Given the description of an element on the screen output the (x, y) to click on. 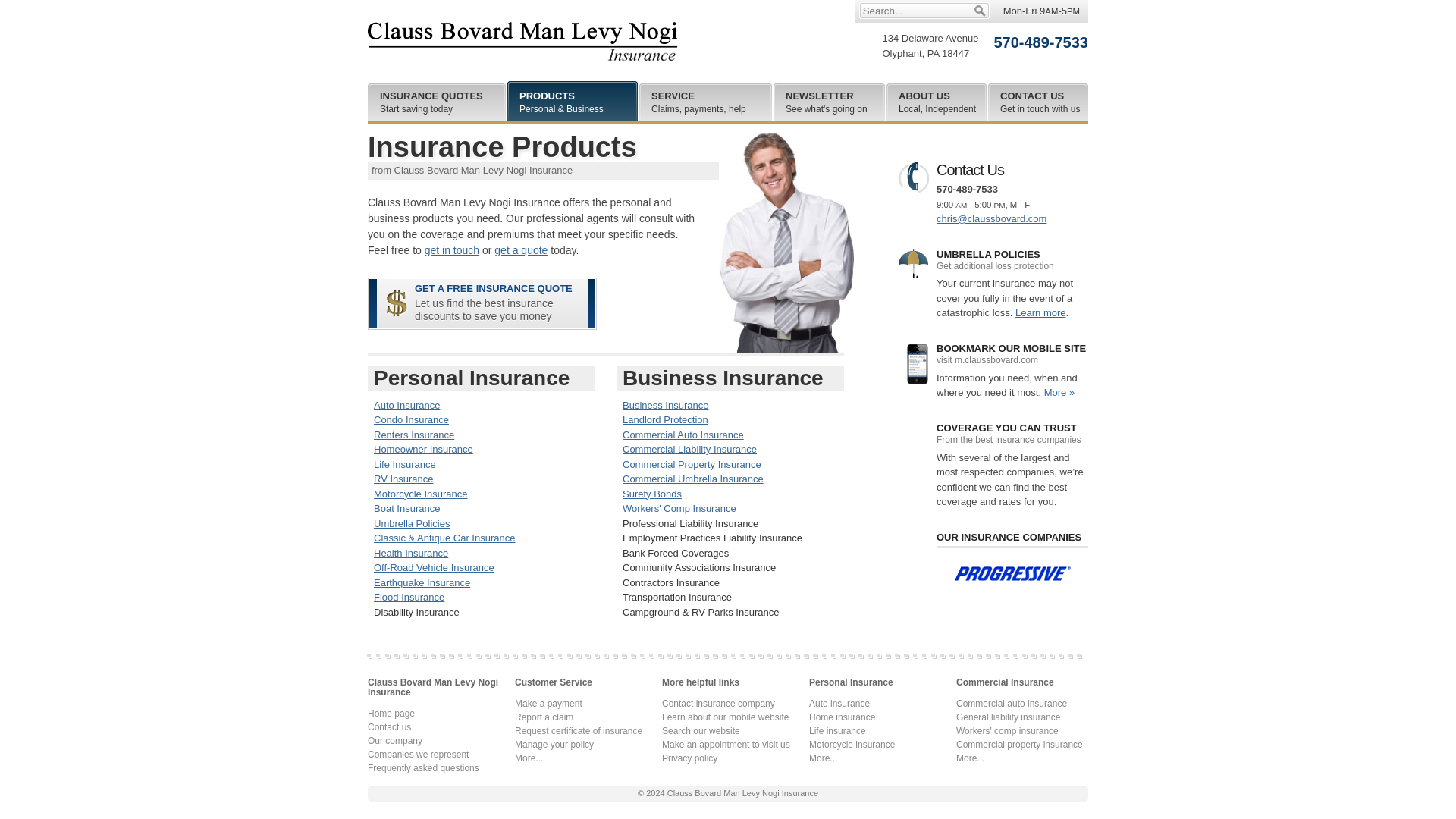
Renters Insurance (414, 434)
RV Insurance (403, 478)
Umbrella Policies (1037, 102)
Health Insurance (937, 102)
Condo Insurance (411, 523)
Learn more (411, 552)
Motorcycle Insurance (411, 419)
Off-Road Vehicle Insurance (1039, 312)
Workers' Comp Insurance (420, 493)
Surety Bonds (829, 102)
